Given the description of an element on the screen output the (x, y) to click on. 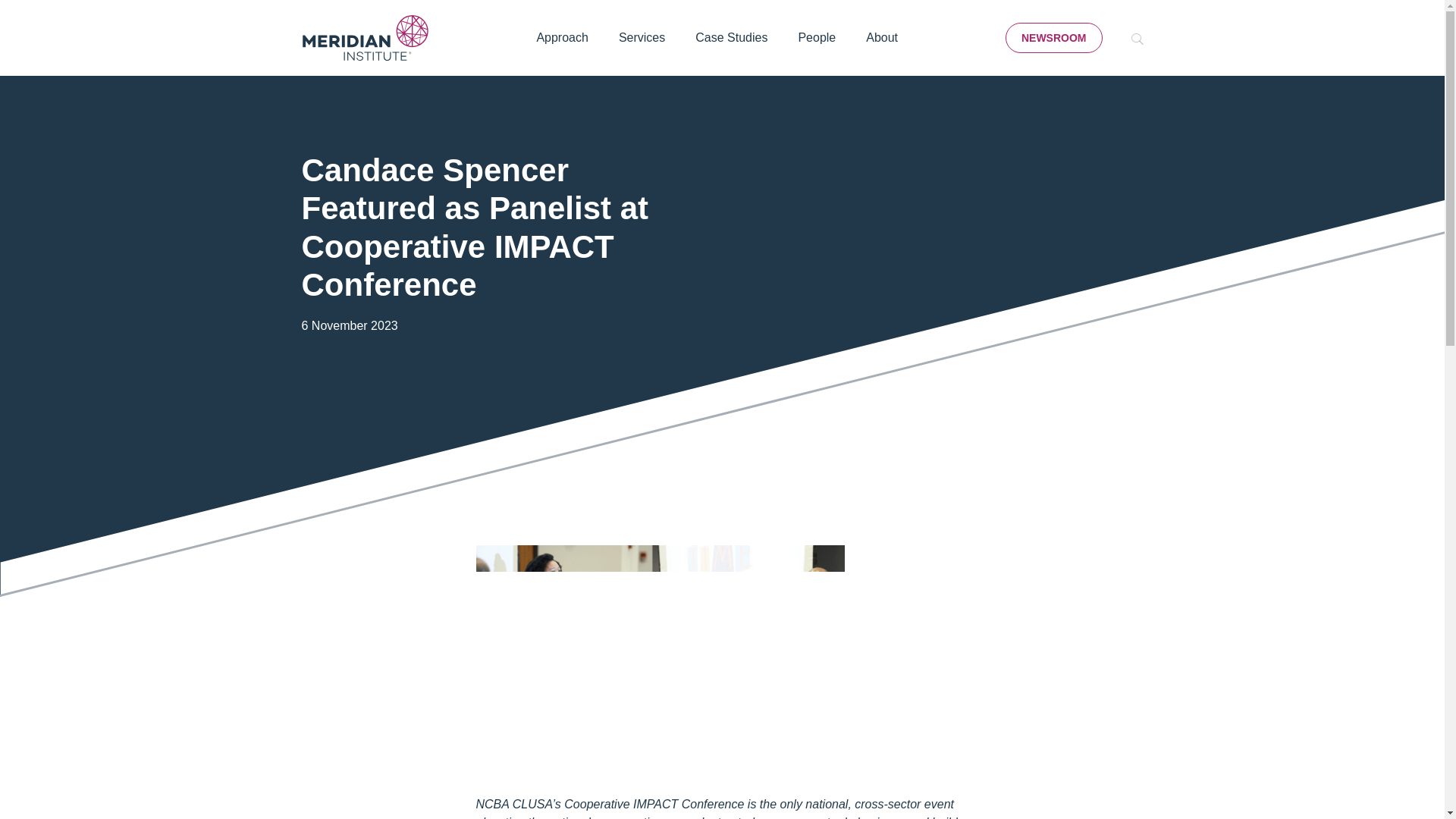
Services (641, 38)
NEWSROOM (1054, 37)
Approach (562, 38)
About (881, 38)
Case Studies (731, 38)
People (816, 38)
